Given the description of an element on the screen output the (x, y) to click on. 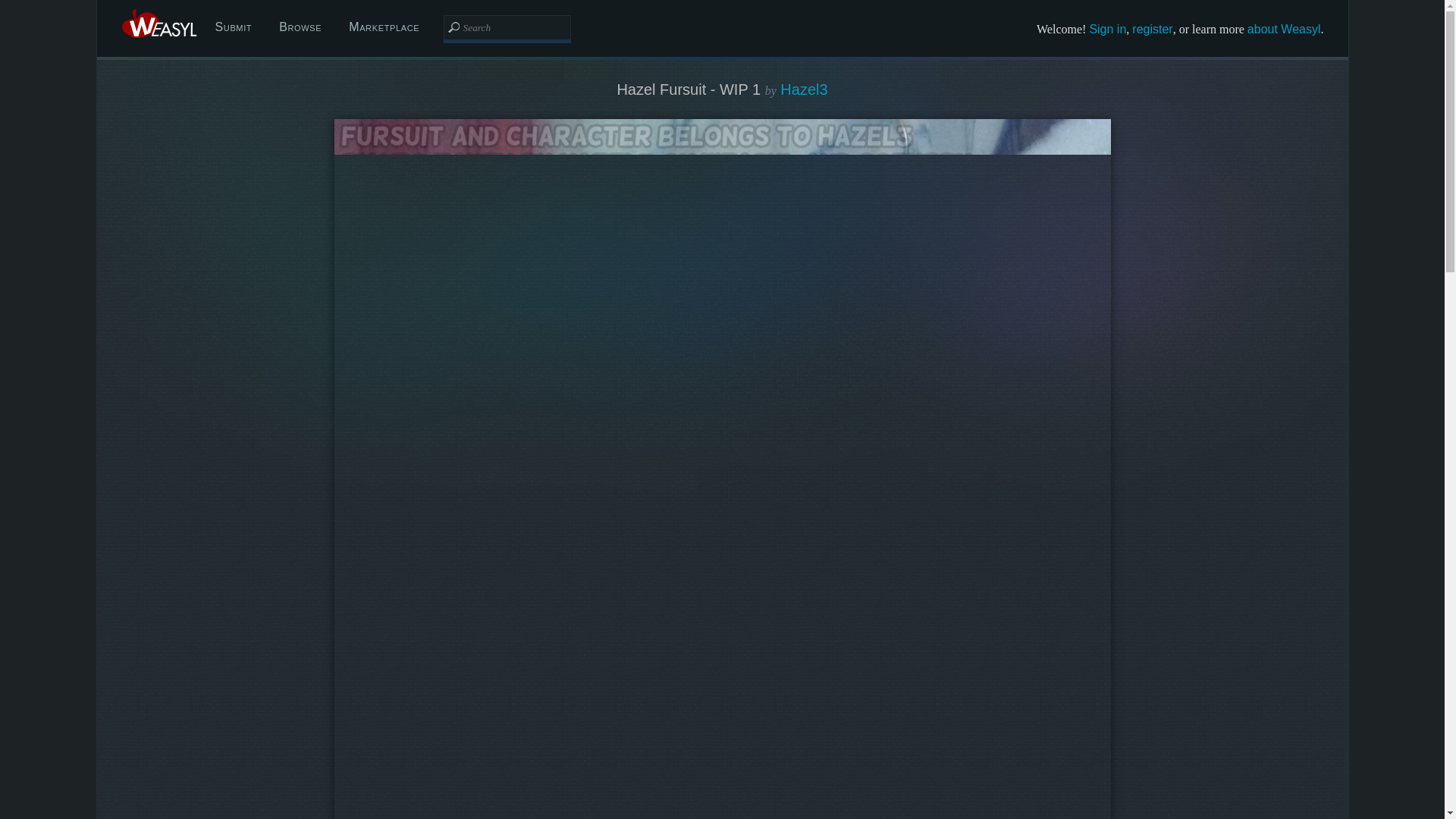
about Weasyl (1283, 29)
Sign in (1107, 29)
Browse (299, 27)
Search Weasyl (507, 27)
Hazel3 (803, 89)
Marketplace (383, 27)
register (1152, 29)
Submit (233, 27)
